Given the description of an element on the screen output the (x, y) to click on. 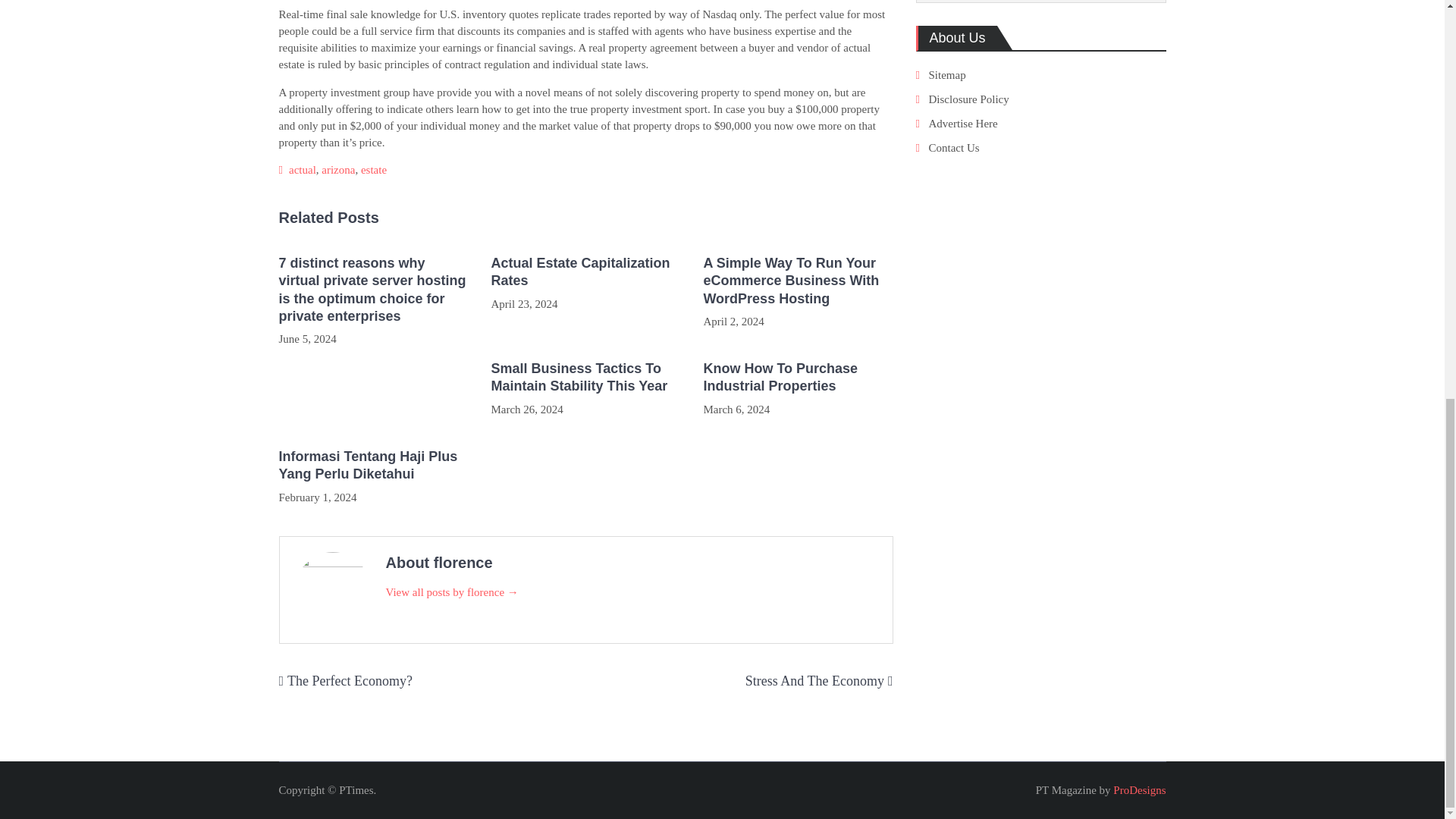
Small Business Tactics To Maintain Stability This Year (584, 377)
actual (301, 169)
estate (374, 169)
arizona (338, 169)
Know How To Purchase Industrial Properties (797, 377)
Informasi Tentang Haji Plus Yang Perlu Diketahui (373, 465)
Actual Estate Capitalization Rates (584, 272)
